Given the description of an element on the screen output the (x, y) to click on. 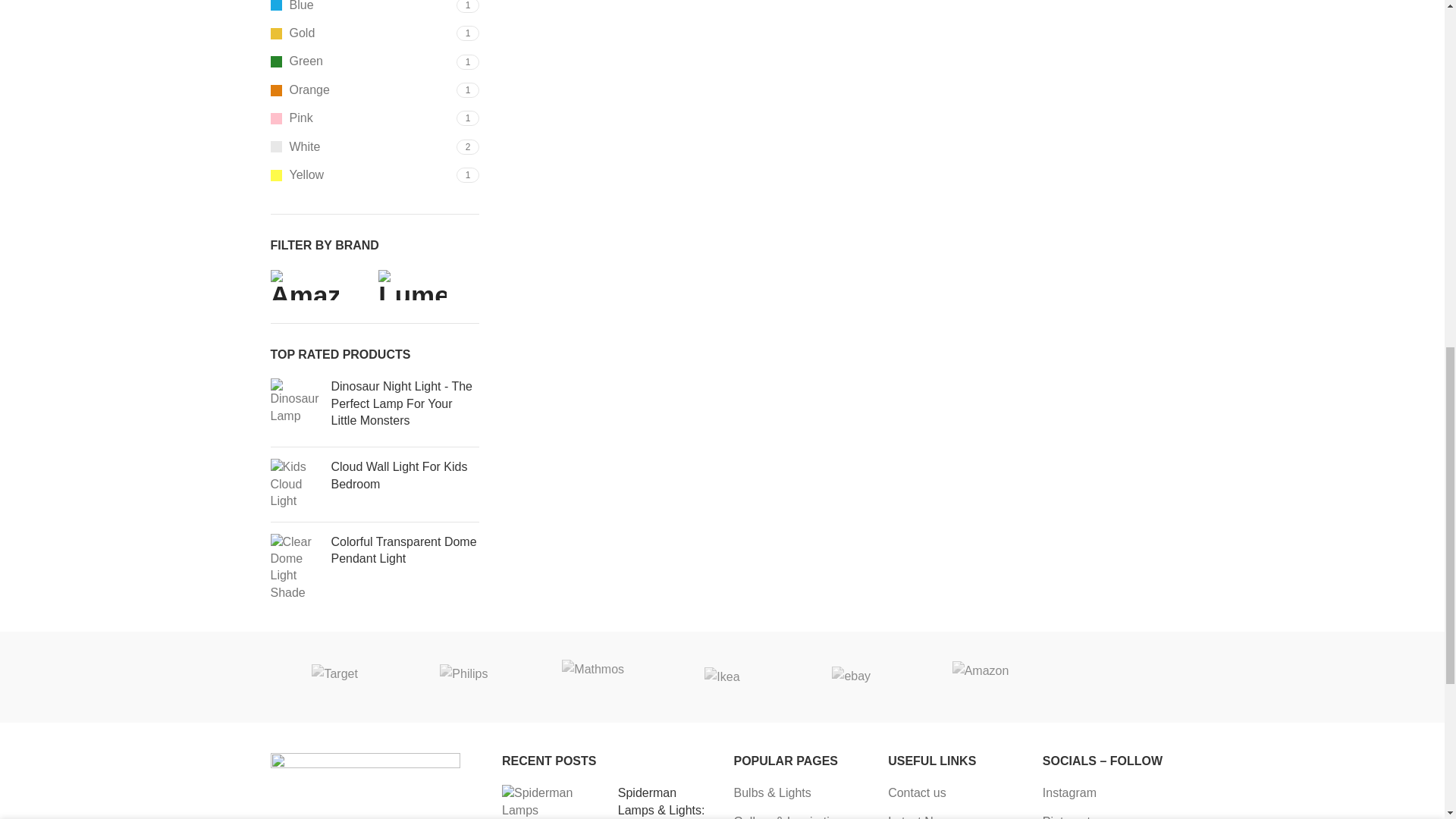
target (333, 676)
Amazon (980, 676)
Philips (463, 676)
Cloud Wall Light For Kids Bedroom (293, 483)
Light In The Box (1367, 676)
Ikea (722, 676)
Colorful Transparent Dome Pendant Light (404, 550)
ebay (851, 676)
Alessi (1109, 676)
